Given the description of an element on the screen output the (x, y) to click on. 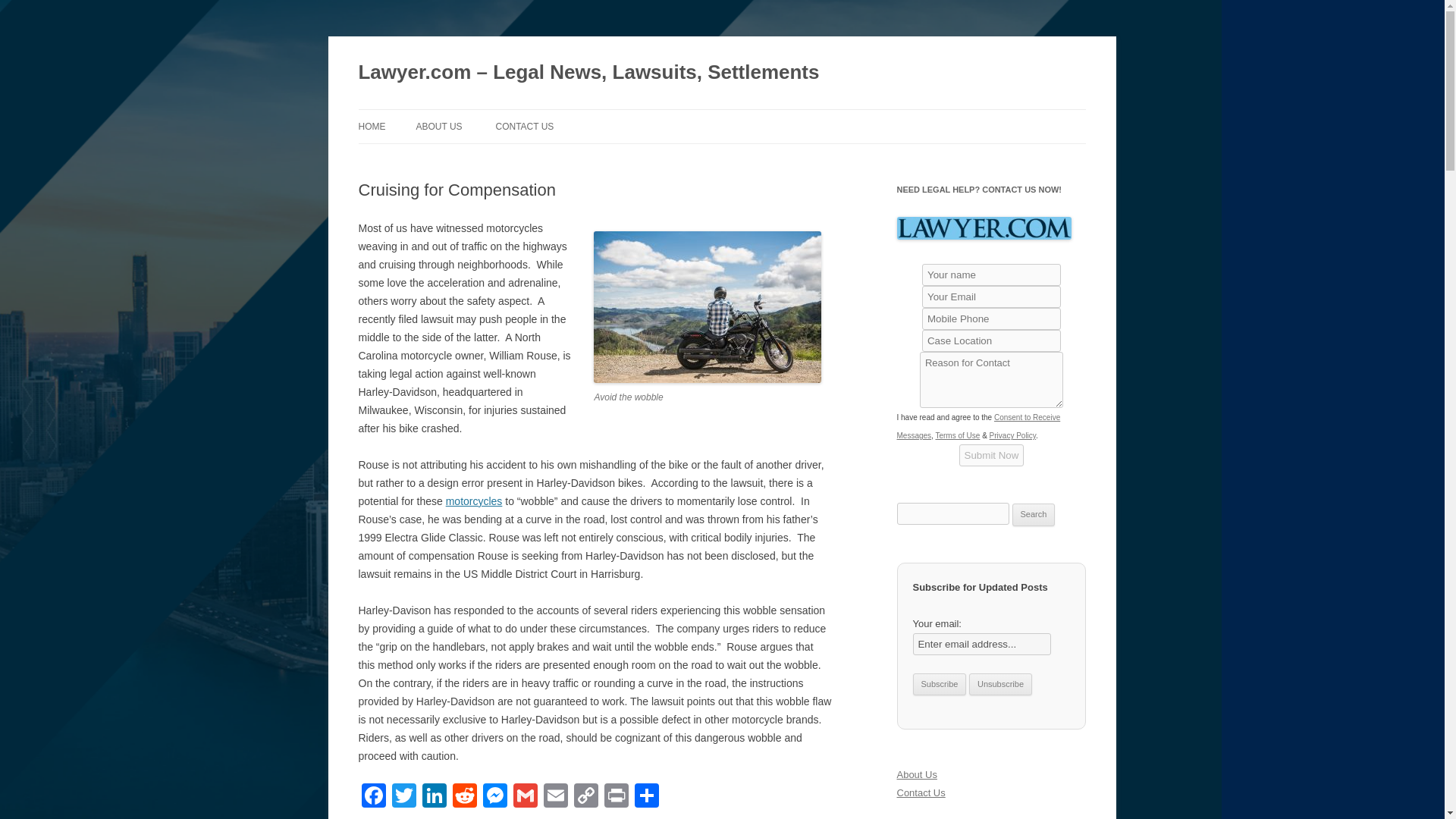
Copy Link (584, 796)
Search (1033, 514)
Email (555, 796)
Gmail (524, 796)
motorcycles (473, 500)
Terms of Use (956, 435)
Gmail (524, 796)
Consent to Receive Messages (977, 426)
Messenger (494, 796)
Subscribe (939, 684)
Twitter (403, 796)
Messenger (494, 796)
CONTACT US (524, 126)
ABOUT US (437, 126)
Subscribe (939, 684)
